Given the description of an element on the screen output the (x, y) to click on. 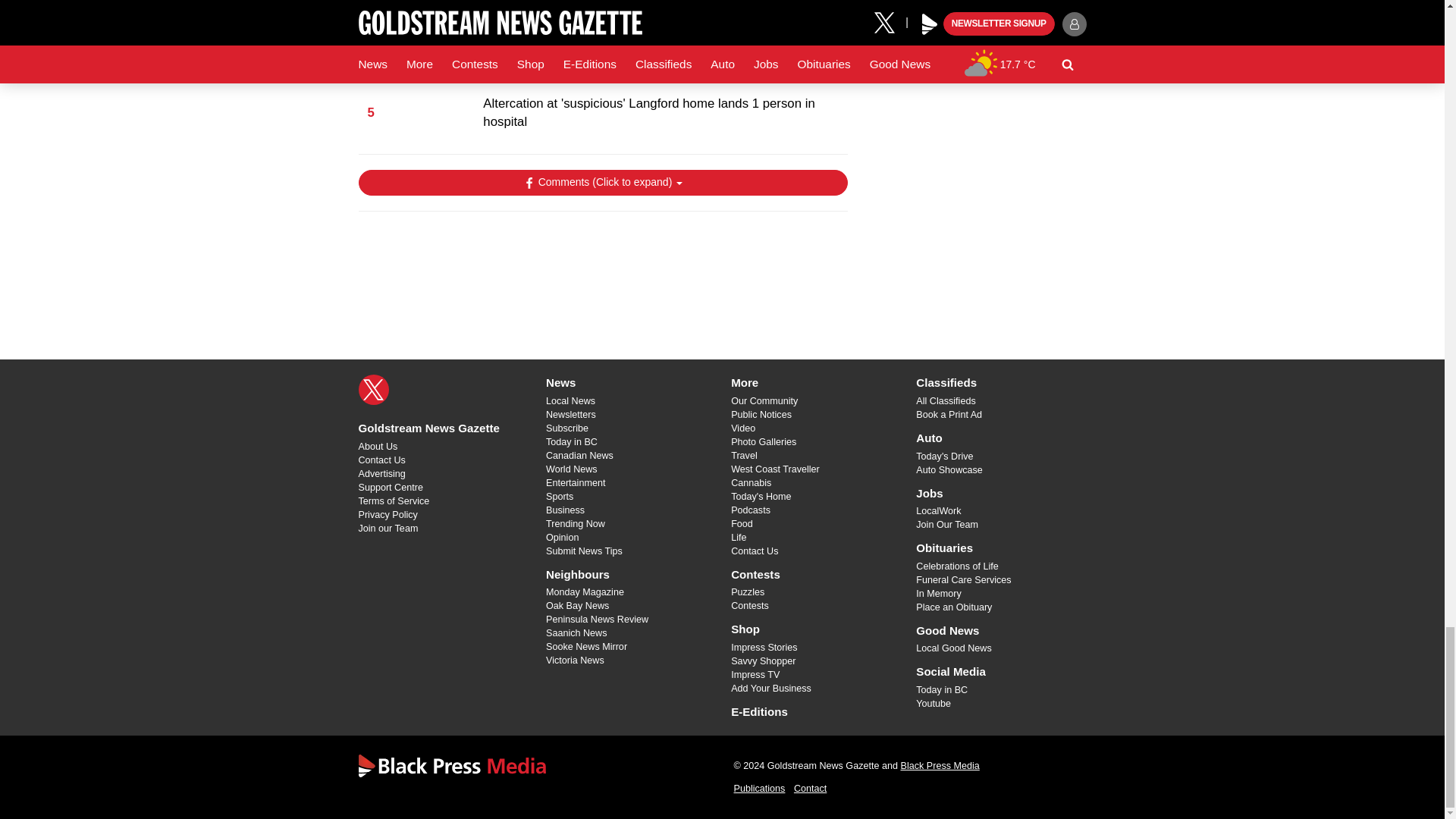
Show Comments (602, 182)
X (373, 389)
